Given the description of an element on the screen output the (x, y) to click on. 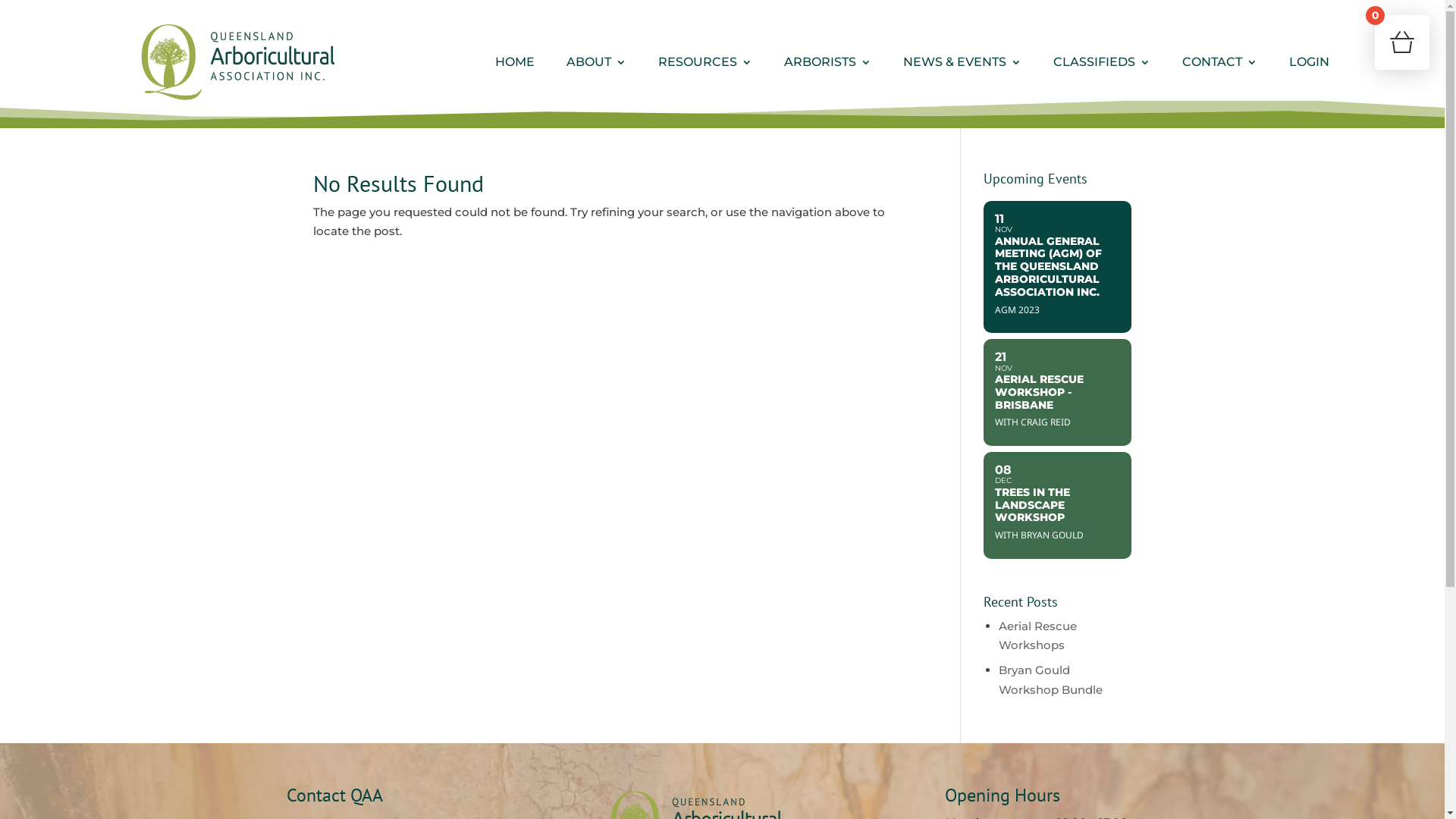
0 Element type: text (1401, 42)
Aerial Rescue Workshops Element type: text (1037, 635)
CLASSIFIEDS Element type: text (1100, 61)
21
NOV
AERIAL RESCUE WORKSHOP - BRISBANE
WITH CRAIG REID Element type: text (1057, 391)
ARBORISTS Element type: text (827, 61)
NEWS & EVENTS Element type: text (961, 61)
Bryan Gould Workshop Bundle Element type: text (1050, 679)
ABOUT Element type: text (595, 61)
CONTACT Element type: text (1218, 61)
HOME Element type: text (513, 61)
08
DEC
TREES IN THE LANDSCAPE WORKSHOP
WITH BRYAN GOULD Element type: text (1057, 504)
LOGIN Element type: text (1309, 61)
RESOURCES Element type: text (705, 61)
LOGIN Element type: text (1309, 61)
